Given the description of an element on the screen output the (x, y) to click on. 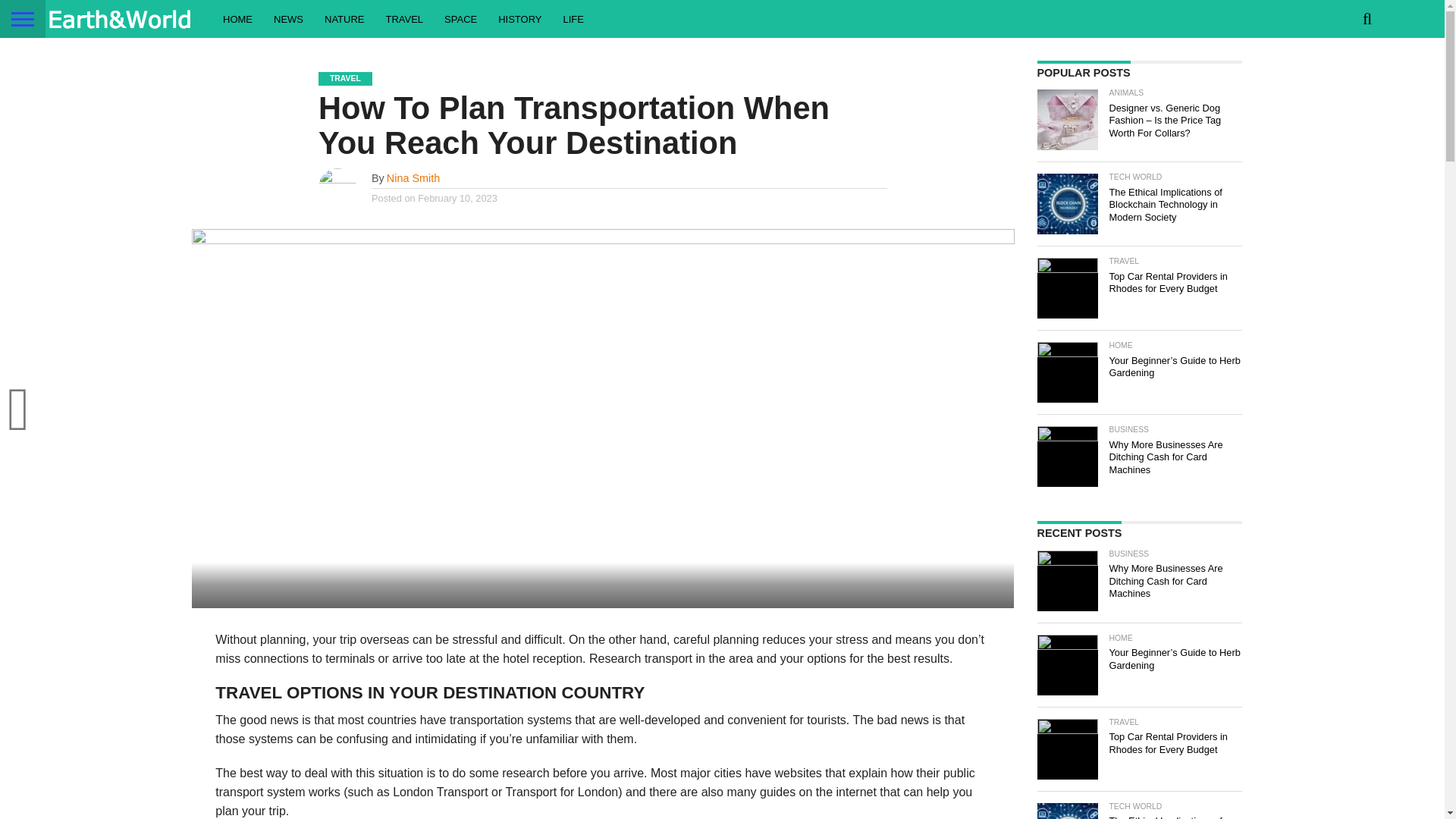
HOME (237, 18)
Posts by Nina Smith (413, 177)
Nina Smith (413, 177)
HISTORY (519, 18)
LIFE (573, 18)
NEWS (288, 18)
NATURE (344, 18)
TRAVEL (403, 18)
SPACE (460, 18)
